Given the description of an element on the screen output the (x, y) to click on. 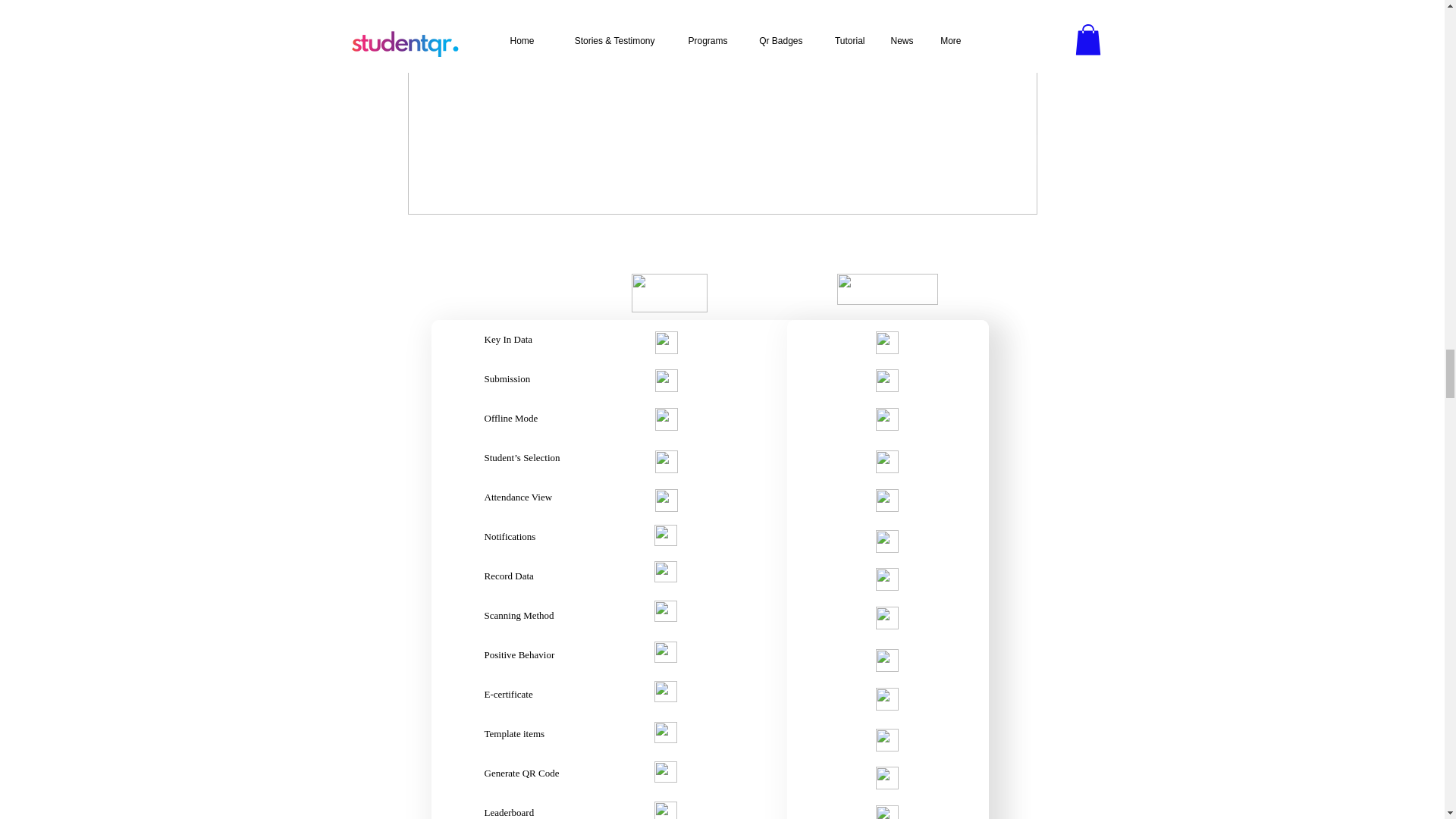
tick.png (886, 812)
tick.png (886, 461)
tick.png (886, 698)
tick.png (666, 342)
tick.png (886, 380)
tick.png (886, 660)
logo studentqr new color.png (887, 288)
tick.png (886, 739)
excell-removebg-preview.png (668, 292)
tick.png (886, 342)
